Given the description of an element on the screen output the (x, y) to click on. 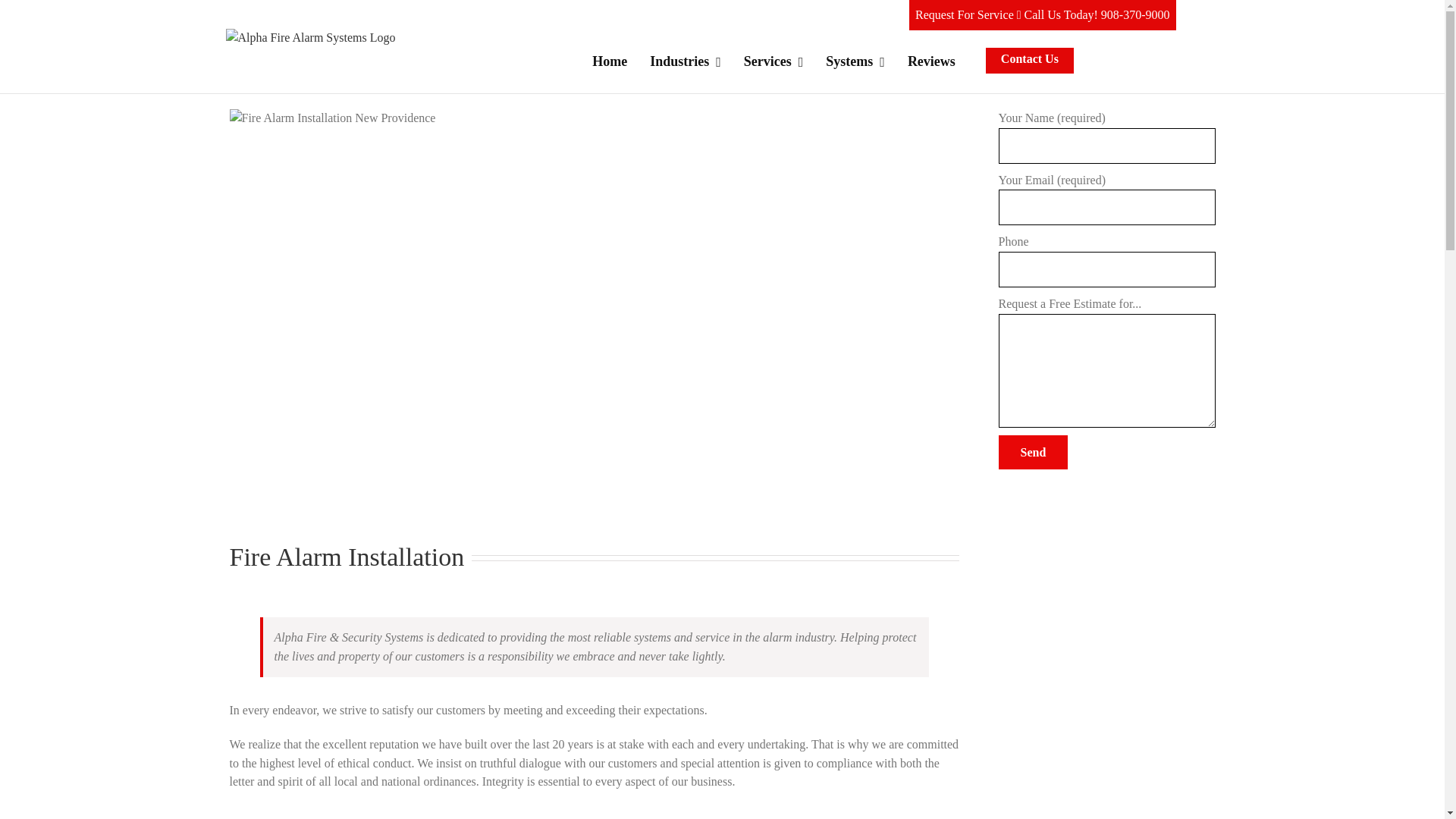
Send (1032, 451)
Request For Service (965, 14)
Contact Us (1029, 60)
Services (773, 61)
Call Us Today! 908-370-9000 (1097, 14)
Systems (855, 61)
Industries (684, 61)
Send (1032, 451)
